Given the description of an element on the screen output the (x, y) to click on. 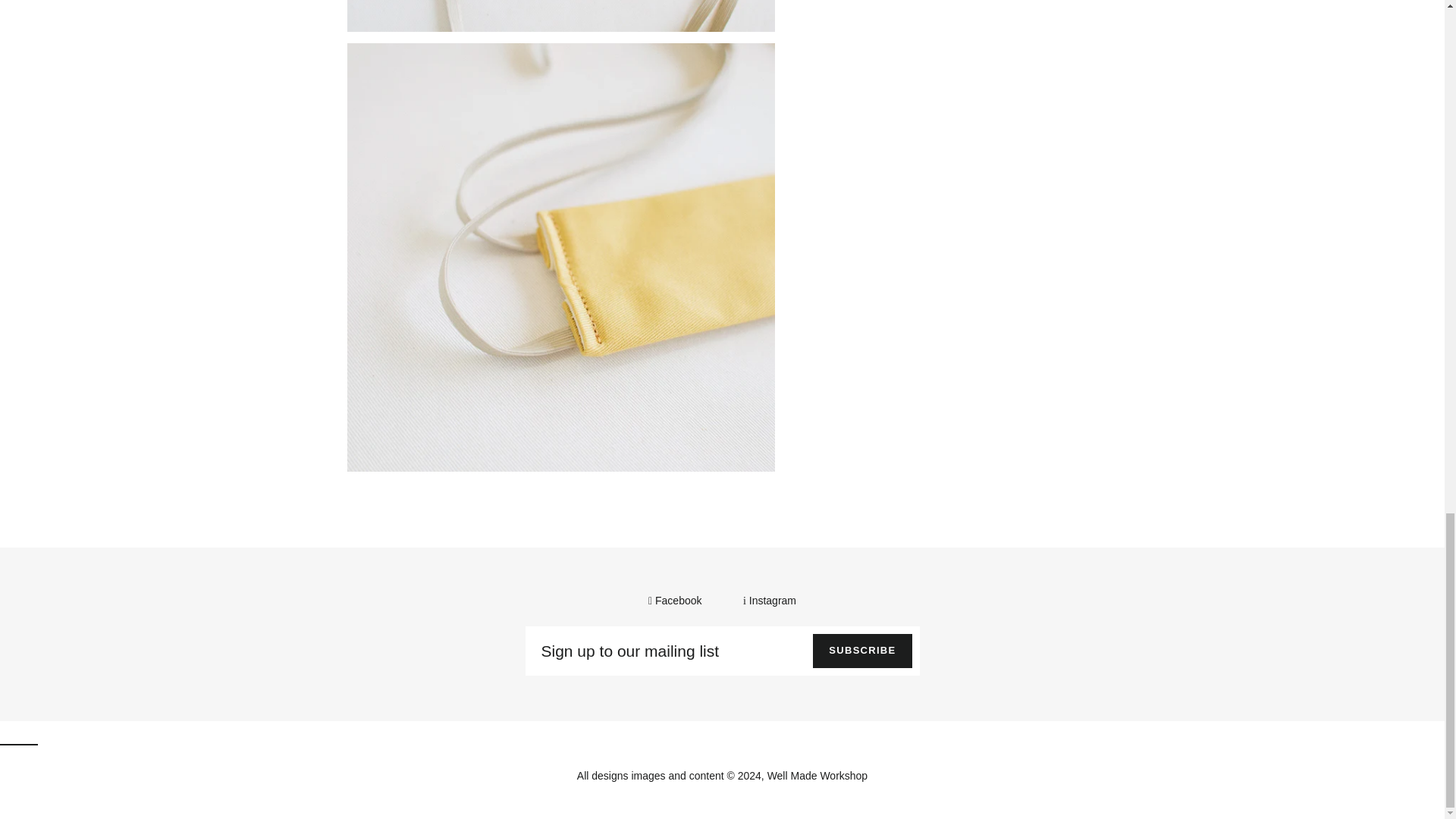
Well Made Workshop on Instagram (769, 600)
Well Made Workshop (817, 775)
SUBSCRIBE (861, 650)
Well Made Workshop on Facebook (675, 600)
Instagram (769, 600)
Facebook (675, 600)
